Given the description of an element on the screen output the (x, y) to click on. 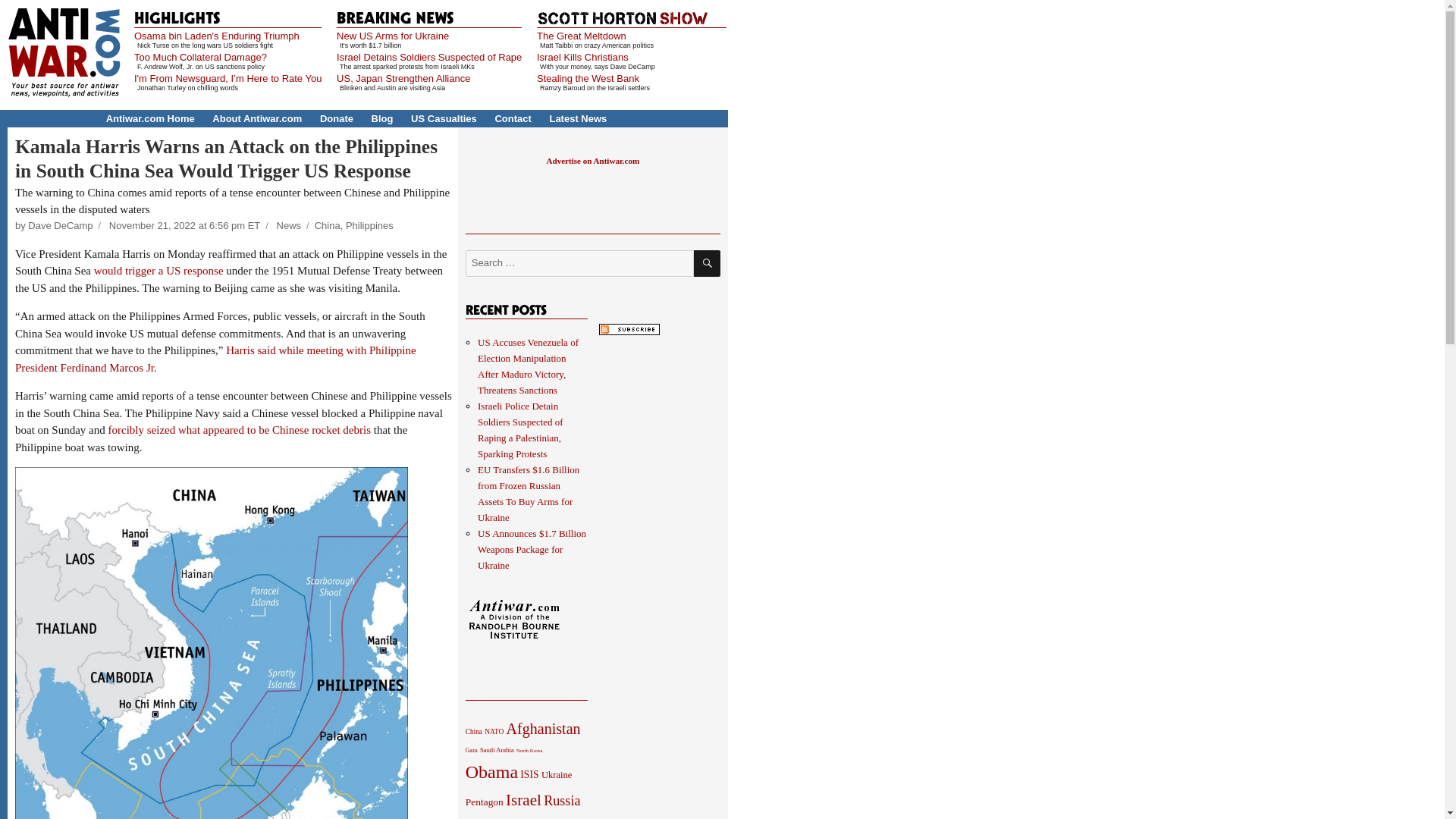
Israel Detains Soldiers Suspected of Rape (428, 57)
The Great Meltdown (581, 35)
About Antiwar.com (256, 118)
Philippines (369, 225)
Osama bin Laden's Enduring Triumph (216, 35)
China (327, 225)
forcibly seized what appeared to be Chinese rocket debris (239, 429)
would trigger a US response (159, 270)
by Dave DeCamp (53, 225)
New US Arms for Ukraine (392, 35)
Blog (382, 118)
US Casualties (443, 118)
News (288, 225)
Too Much Collateral Damage? (199, 57)
